Given the description of an element on the screen output the (x, y) to click on. 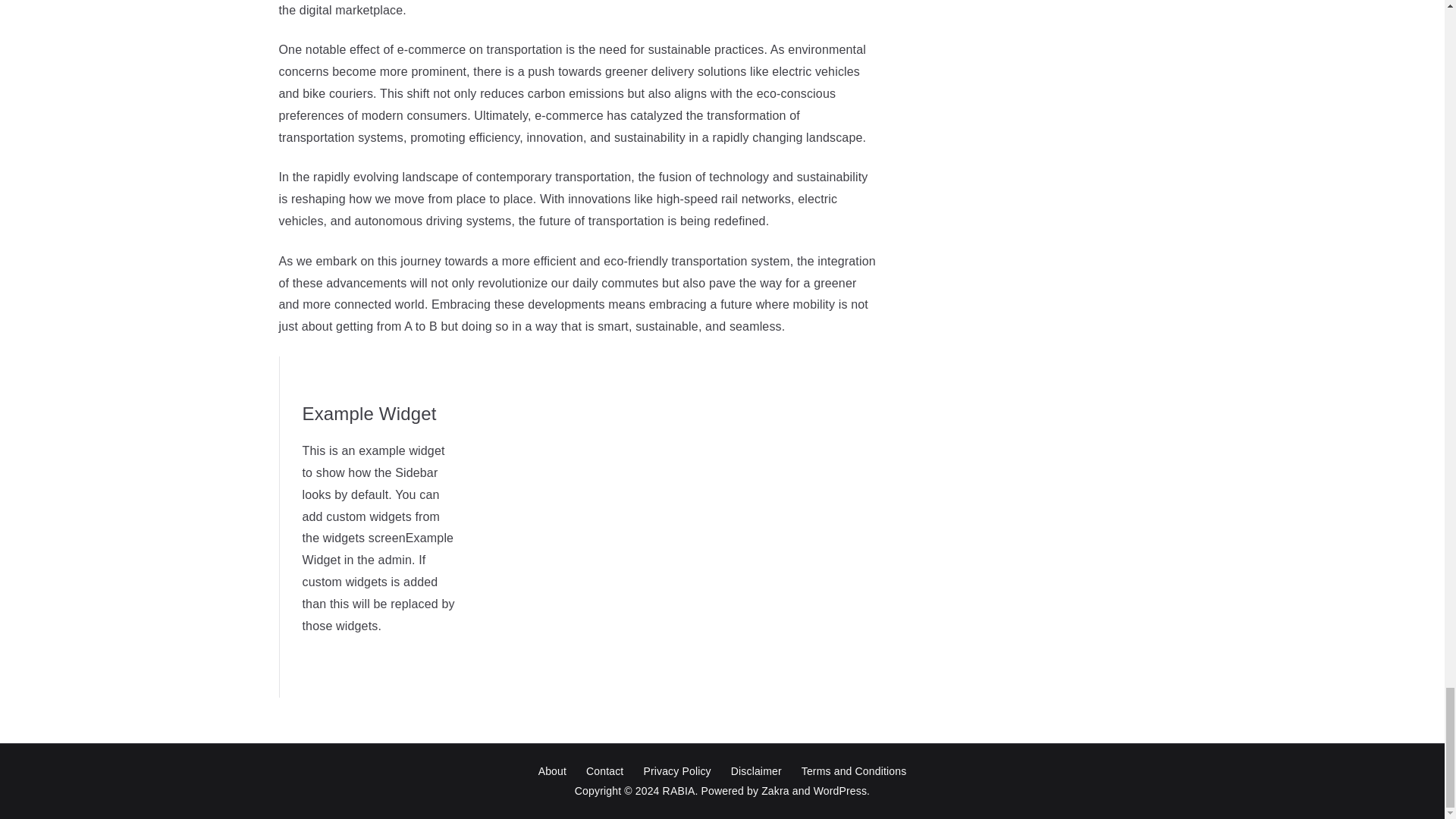
Zakra (775, 790)
Disclaimer (756, 771)
RABIA (678, 790)
About (552, 771)
Terms and Conditions (854, 771)
Zakra (775, 790)
WordPress (839, 790)
Contact (604, 771)
RABIA (678, 790)
Privacy Policy (676, 771)
WordPress (839, 790)
